Given the description of an element on the screen output the (x, y) to click on. 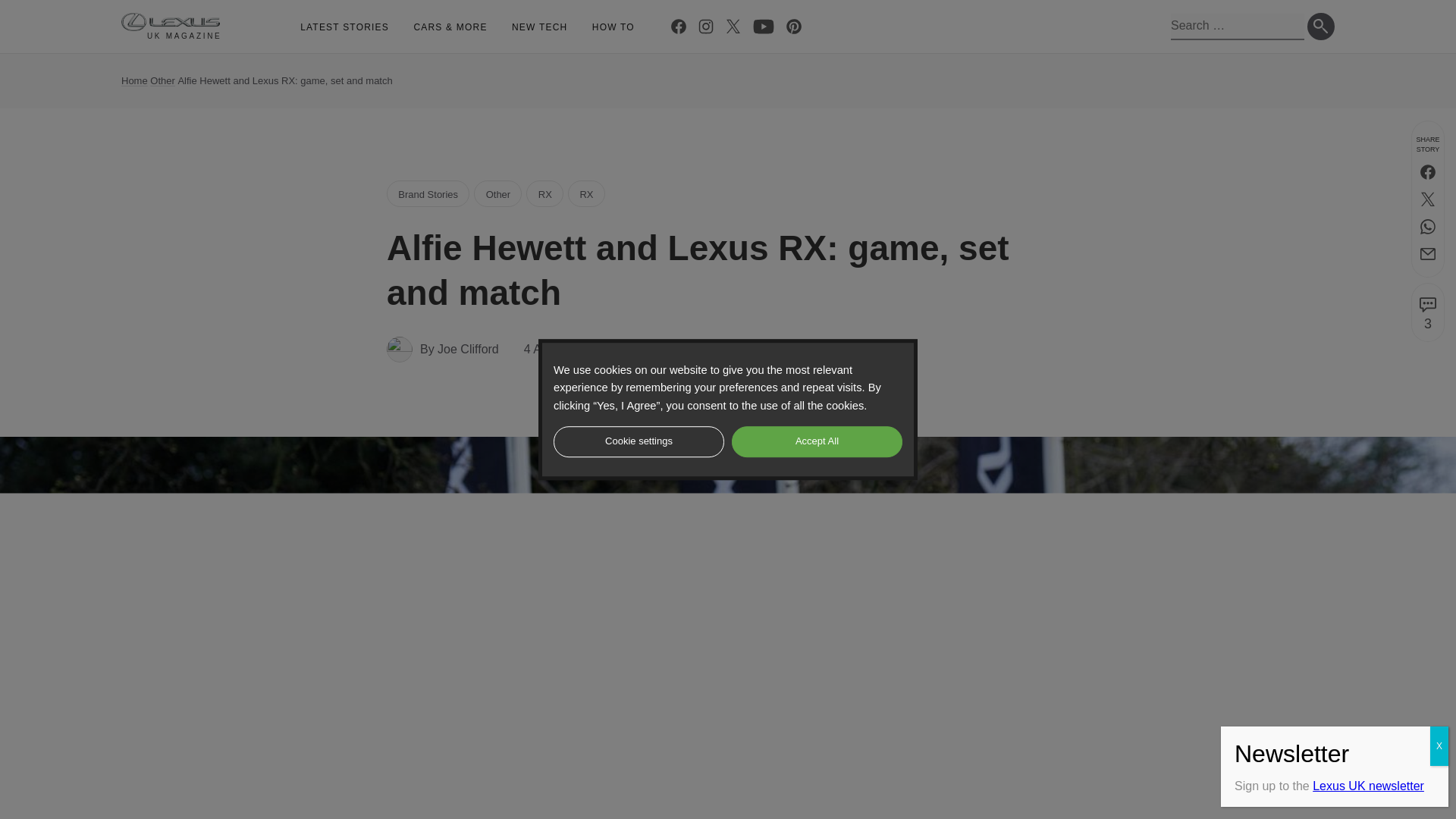
Other (161, 80)
YouTube (763, 26)
Pinterest (794, 26)
3 Comments (659, 348)
Instagram (706, 26)
Other (497, 193)
Home (134, 80)
HOW TO (612, 27)
Twitter (1427, 198)
Brand Stories (427, 193)
